Given the description of an element on the screen output the (x, y) to click on. 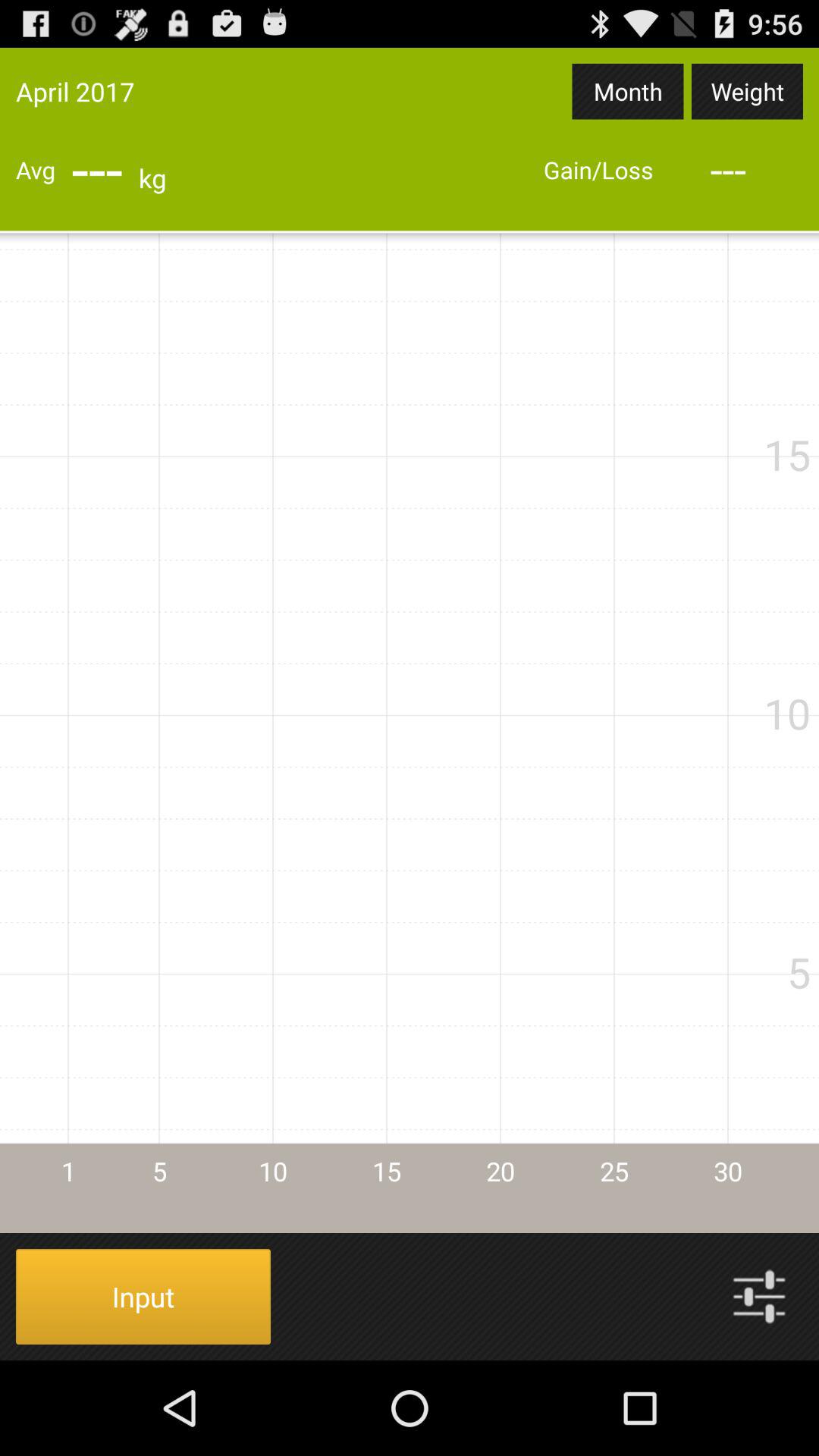
scroll until month (627, 91)
